Given the description of an element on the screen output the (x, y) to click on. 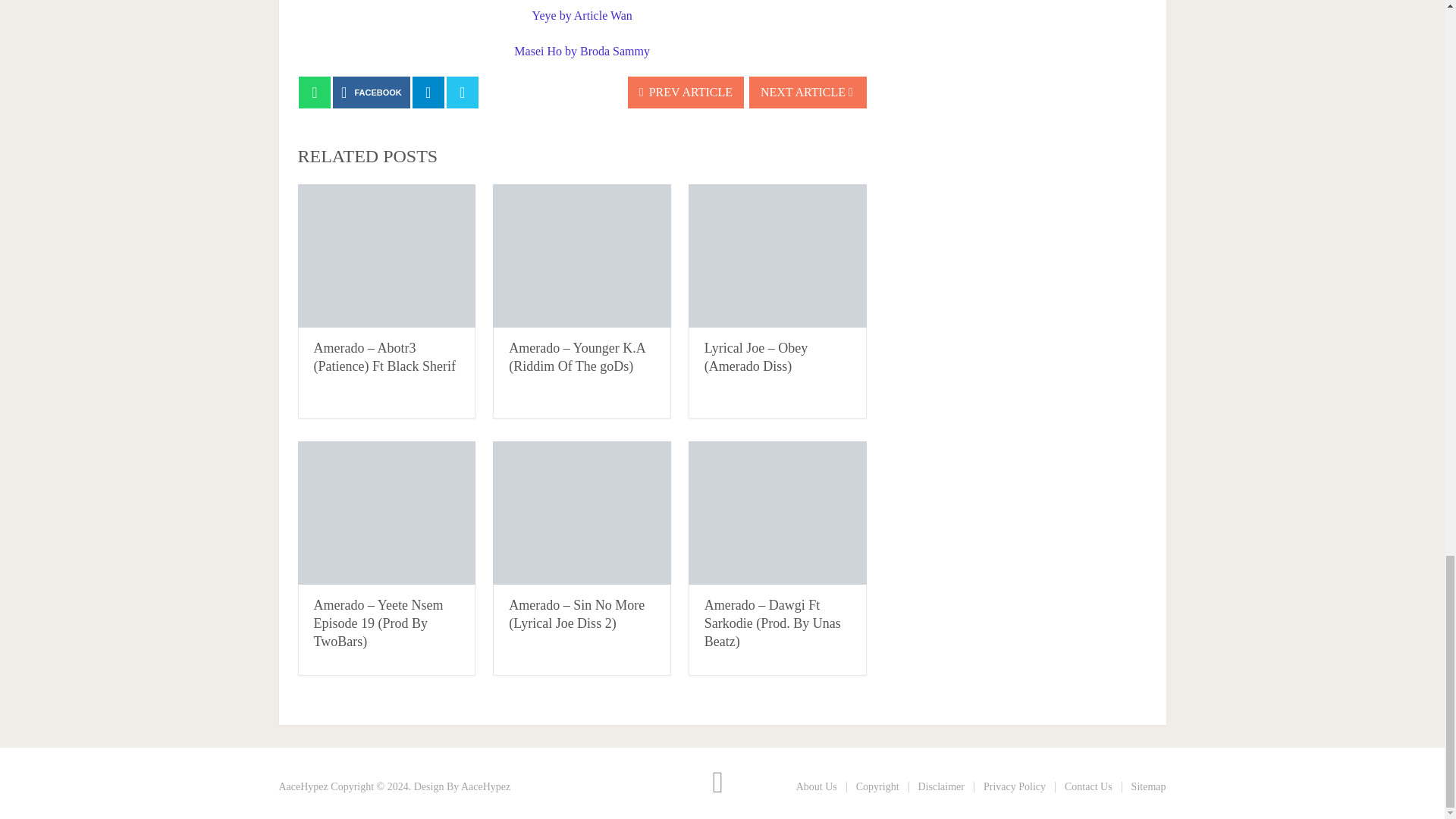
Yeye by Article Wan (581, 15)
FACEBOOK (371, 92)
Masei Ho by Broda Sammy (581, 51)
